Given the description of an element on the screen output the (x, y) to click on. 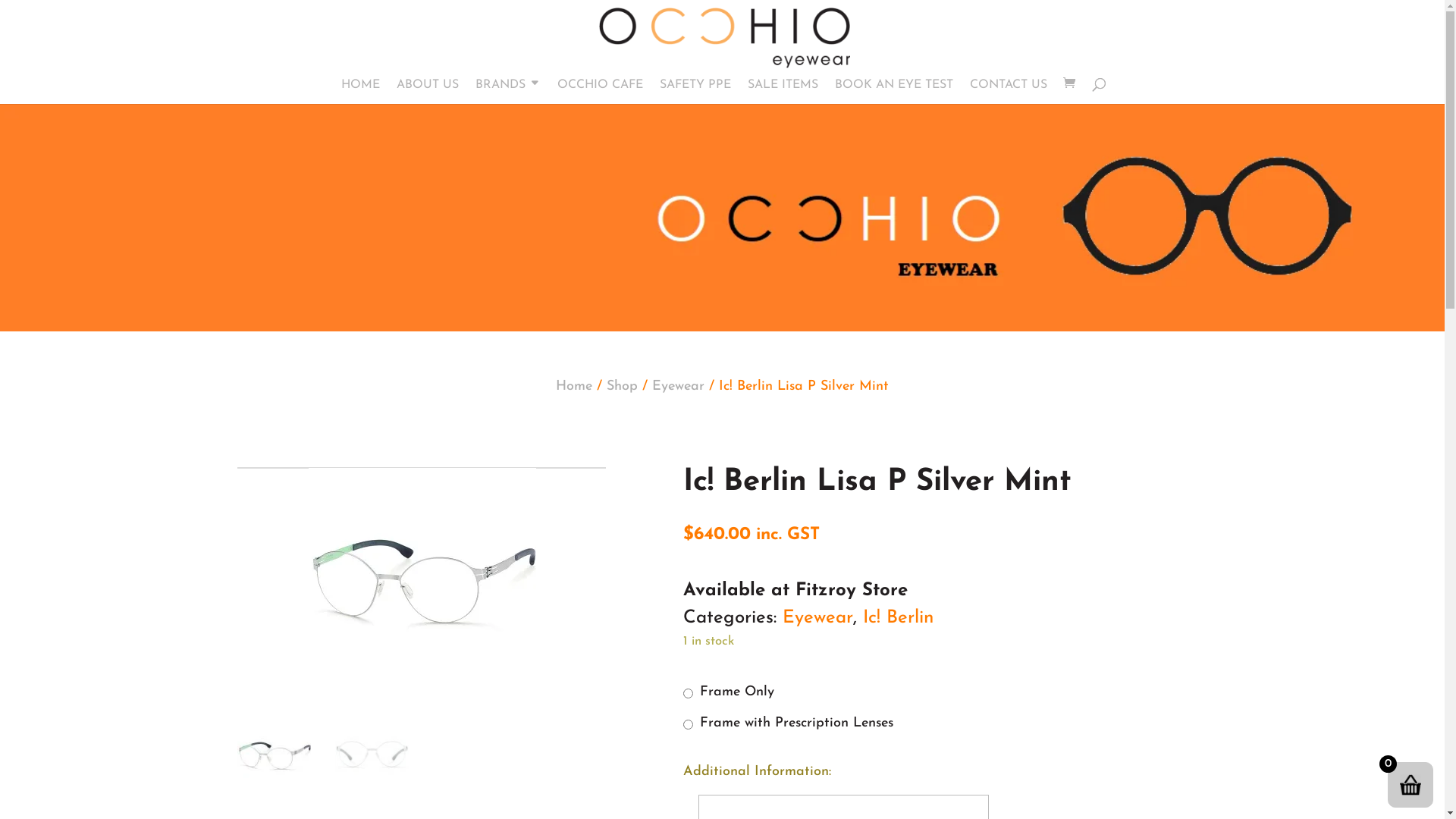
Ic berlin Lisa P Silver Mint Side Element type: hover (422, 581)
CONTACT US Element type: text (1007, 91)
ABOUT US Element type: text (426, 91)
Eyewear Element type: text (817, 617)
SAFETY PPE Element type: text (695, 91)
BRANDS Element type: text (506, 91)
HOME Element type: text (360, 91)
Shop Element type: text (621, 386)
OCCHIO CAFE Element type: text (599, 91)
Ic! Berlin Element type: text (897, 617)
Home Element type: text (573, 386)
BOOK AN EYE TEST Element type: text (893, 91)
SALE ITEMS Element type: text (782, 91)
Eyewear Element type: text (678, 386)
